Given the description of an element on the screen output the (x, y) to click on. 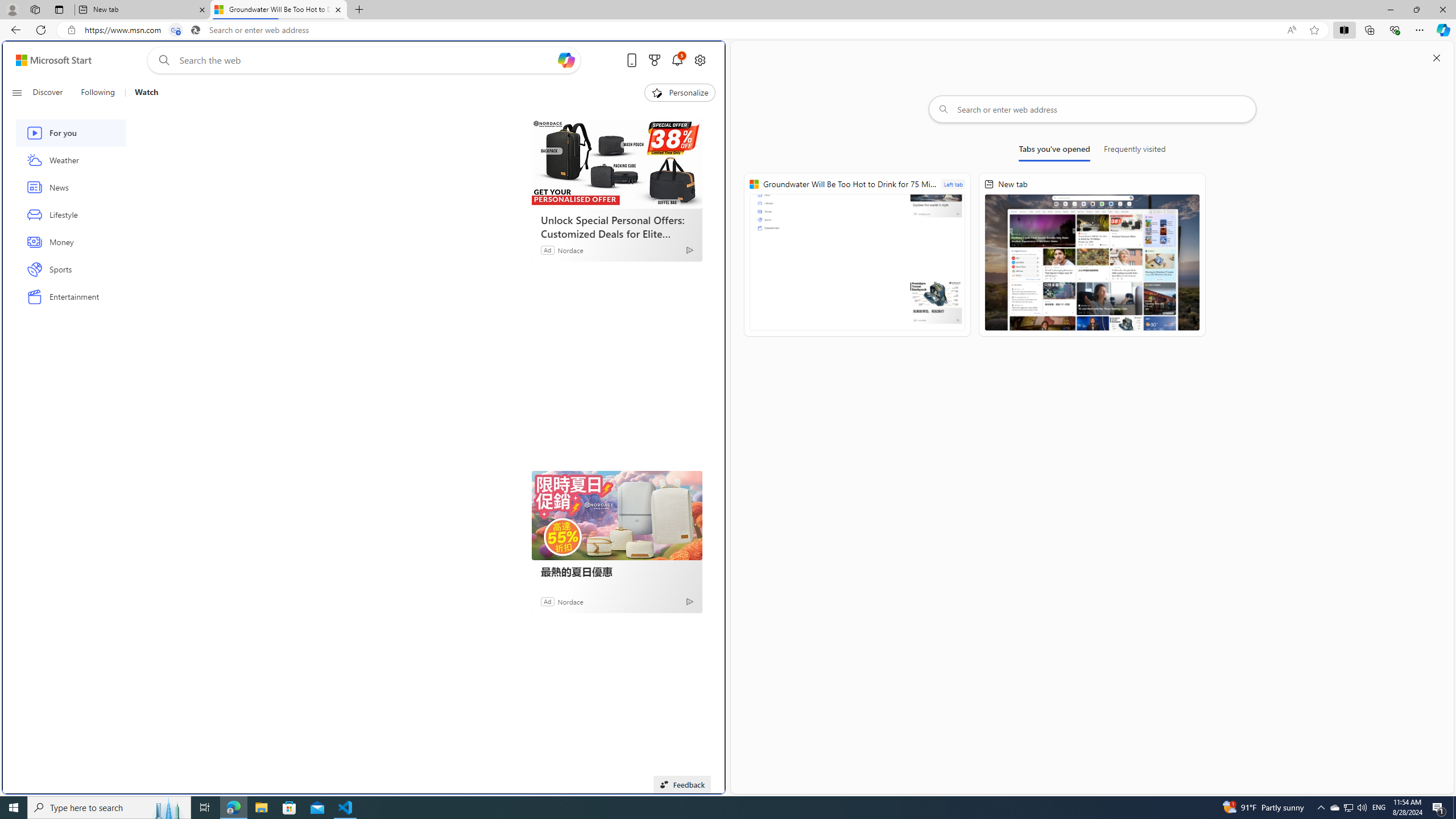
Tabs you've opened (1054, 151)
To get missing image descriptions, open the context menu. (656, 92)
Skip to content (49, 59)
Skip to footer (46, 59)
